Given the description of an element on the screen output the (x, y) to click on. 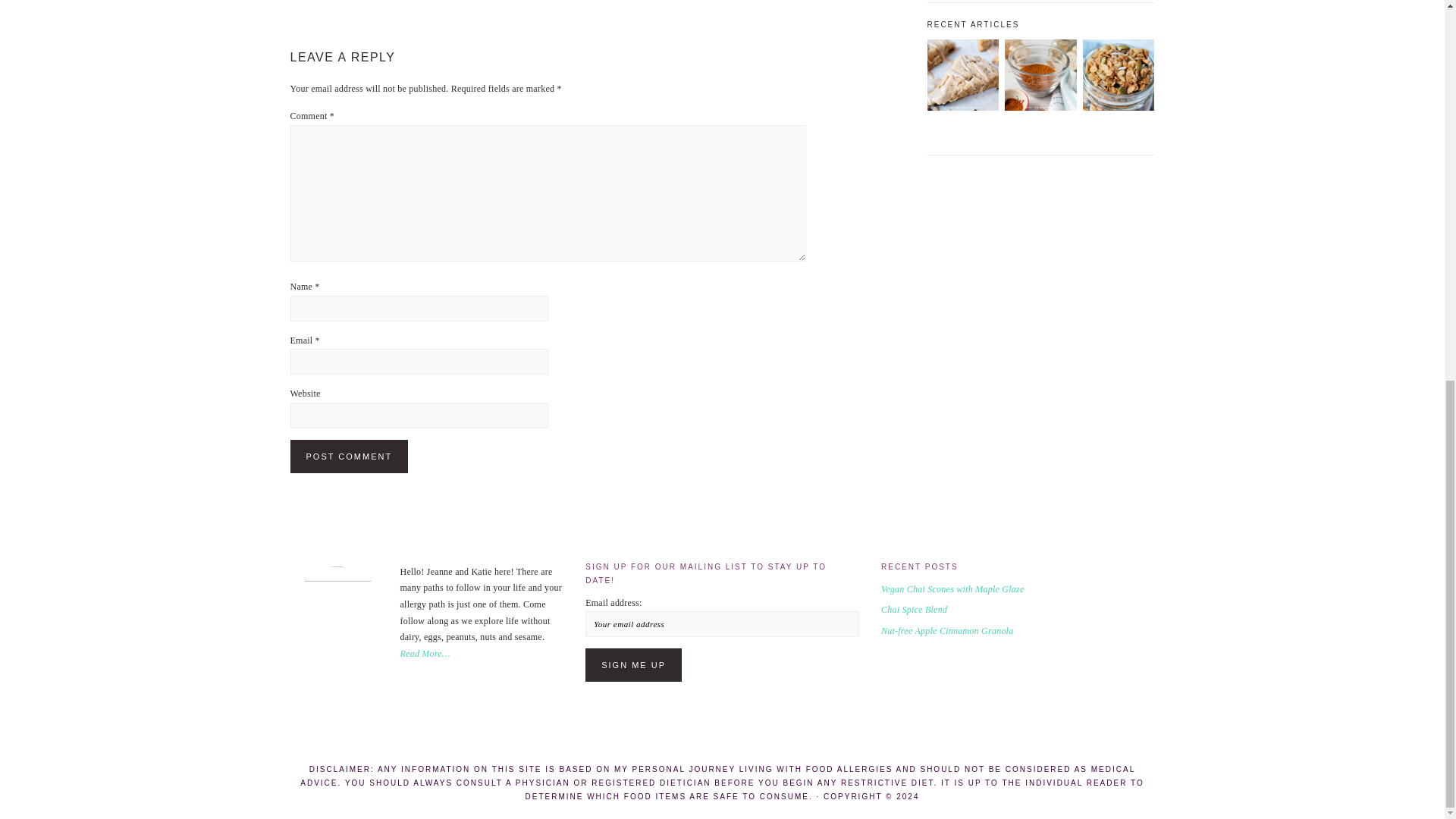
Nut-free Apple Cinnamon Granola (1118, 107)
Vegan Chai Scones with Maple Glaze (962, 107)
Post Comment (348, 456)
Sign me up (633, 664)
Sign me up (633, 664)
Chai Spice Blend (1040, 107)
Post Comment (348, 456)
